Given the description of an element on the screen output the (x, y) to click on. 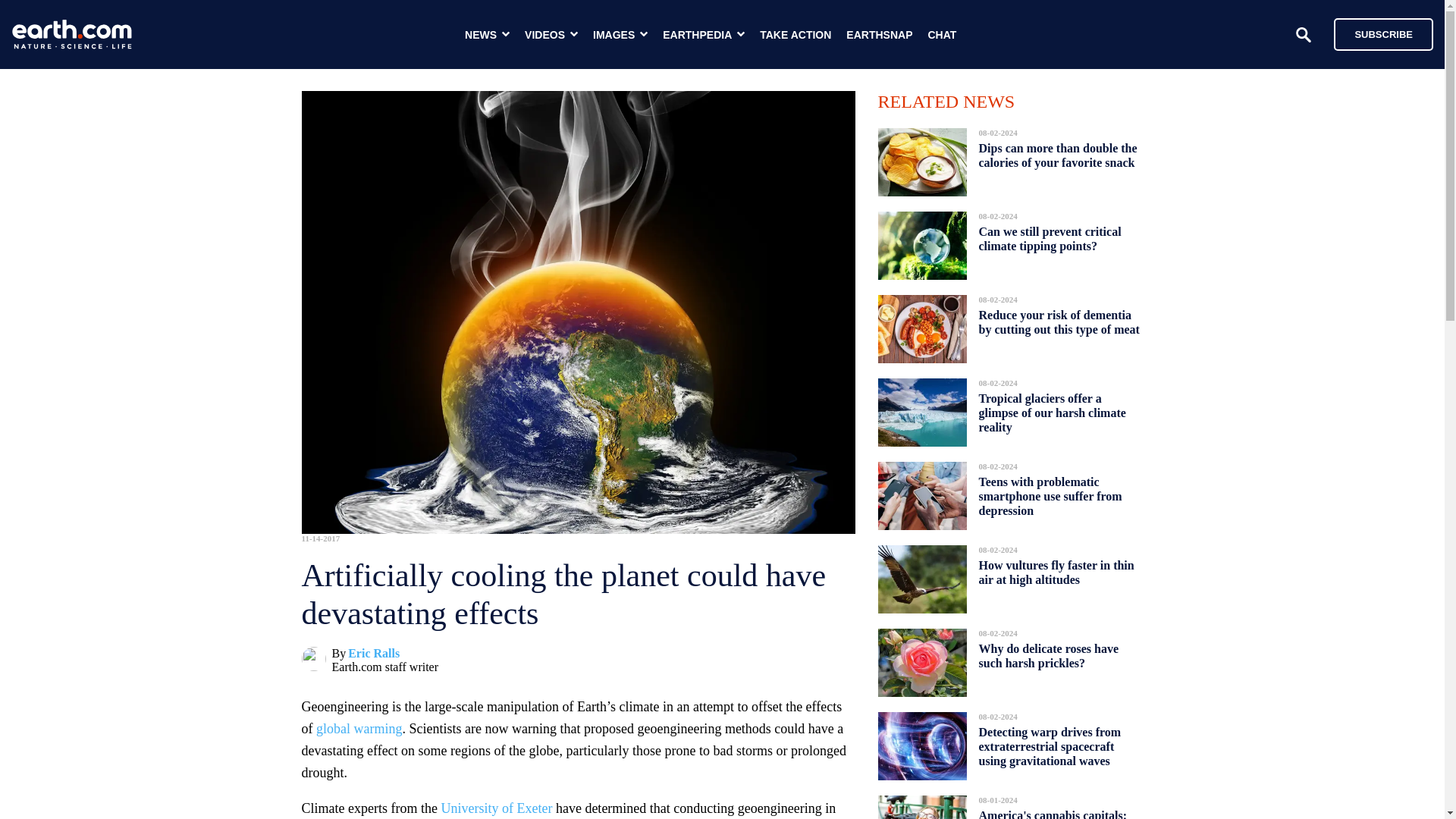
CHAT (941, 34)
TAKE ACTION (795, 34)
Teens with problematic smartphone use suffer from depression (1049, 495)
University of Exeter (496, 807)
EARTHSNAP (878, 34)
Why do delicate roses have such harsh prickles? (1048, 655)
global warming (358, 728)
SUBSCRIBE (1382, 34)
Can we still prevent critical climate tipping points? (1049, 238)
How vultures fly faster in thin air at high altitudes (1056, 572)
SUBSCRIBE (1375, 33)
